Given the description of an element on the screen output the (x, y) to click on. 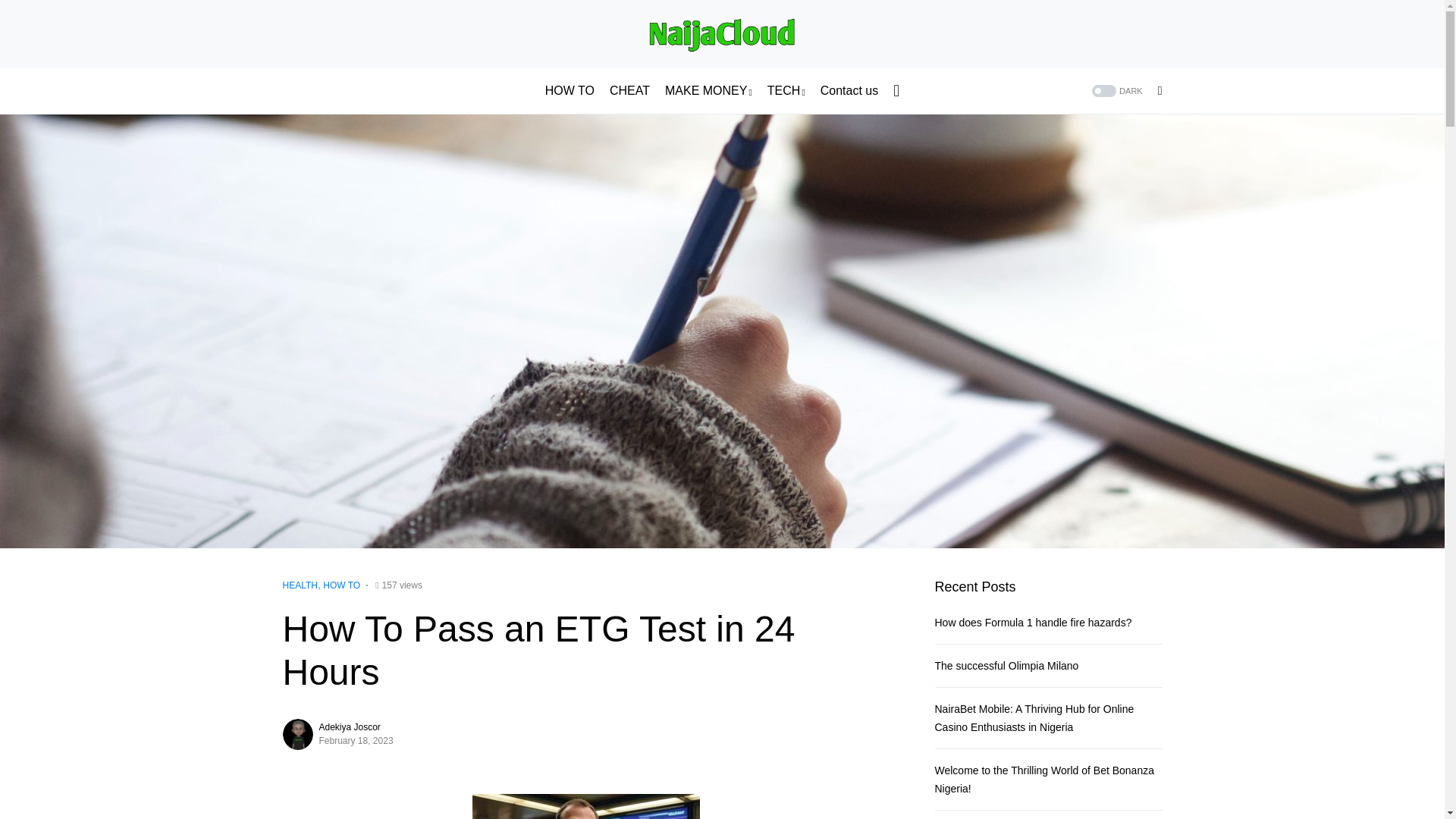
Contact us (849, 90)
MAKE MONEY (708, 90)
HOW TO (569, 90)
